Given the description of an element on the screen output the (x, y) to click on. 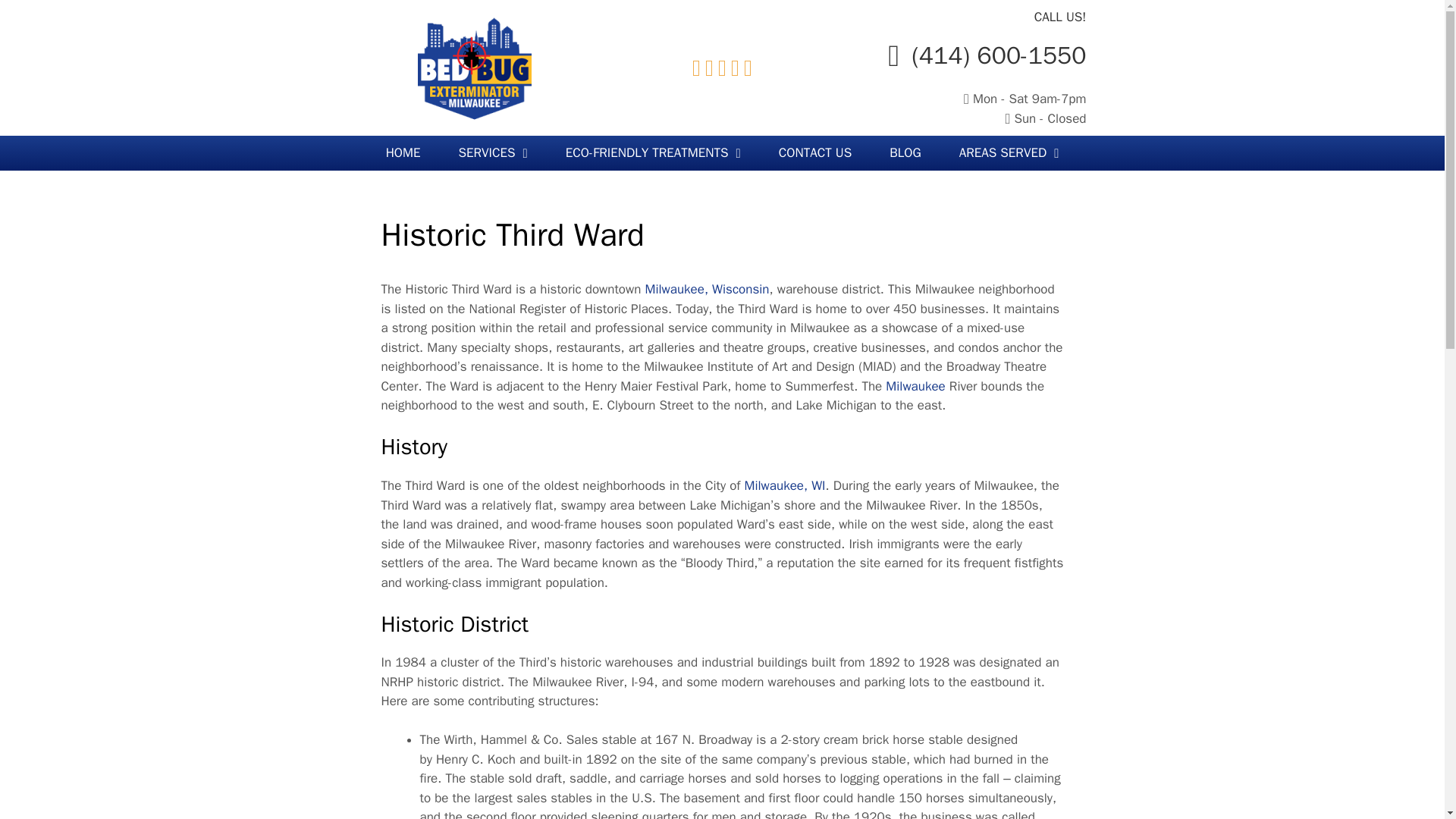
HOME (402, 152)
ECO-FRIENDLY TREATMENTS (653, 152)
CONTACT US (815, 152)
AREAS SERVED (1009, 152)
BLOG (904, 152)
SERVICES (493, 152)
